Given the description of an element on the screen output the (x, y) to click on. 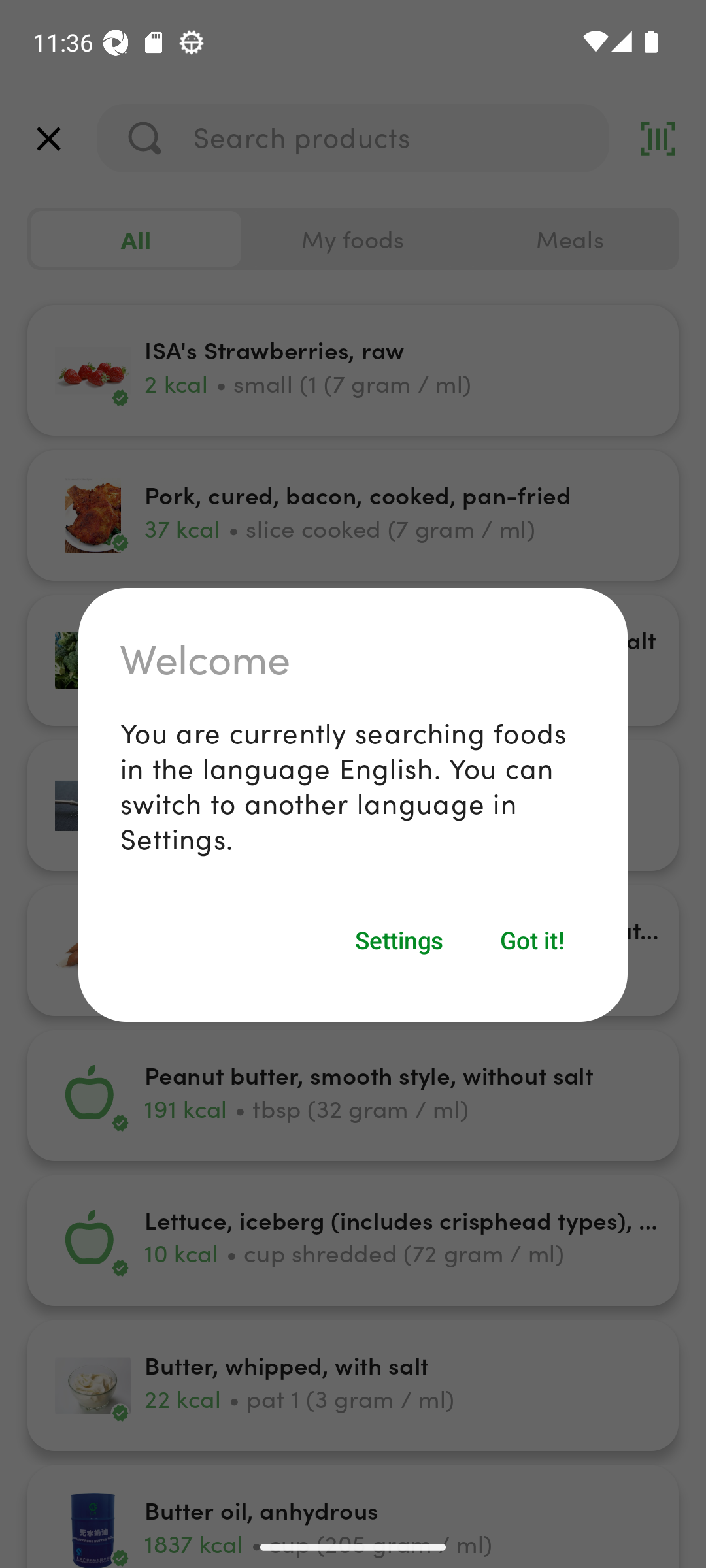
Settings (399, 939)
Got it! (532, 939)
